Given the description of an element on the screen output the (x, y) to click on. 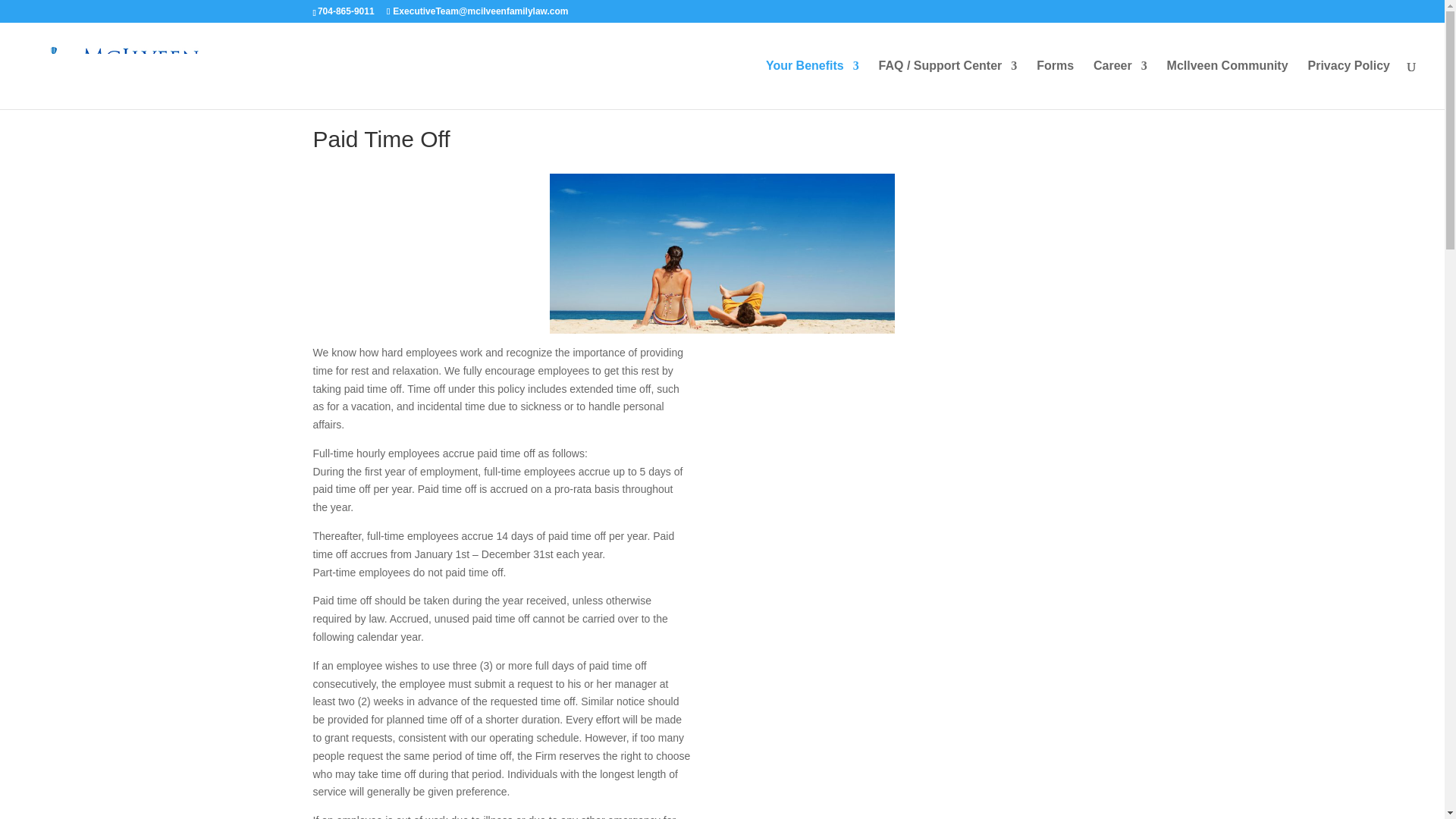
Your Benefits (812, 84)
McIlveen Community (1227, 84)
Career (1120, 84)
